Given the description of an element on the screen output the (x, y) to click on. 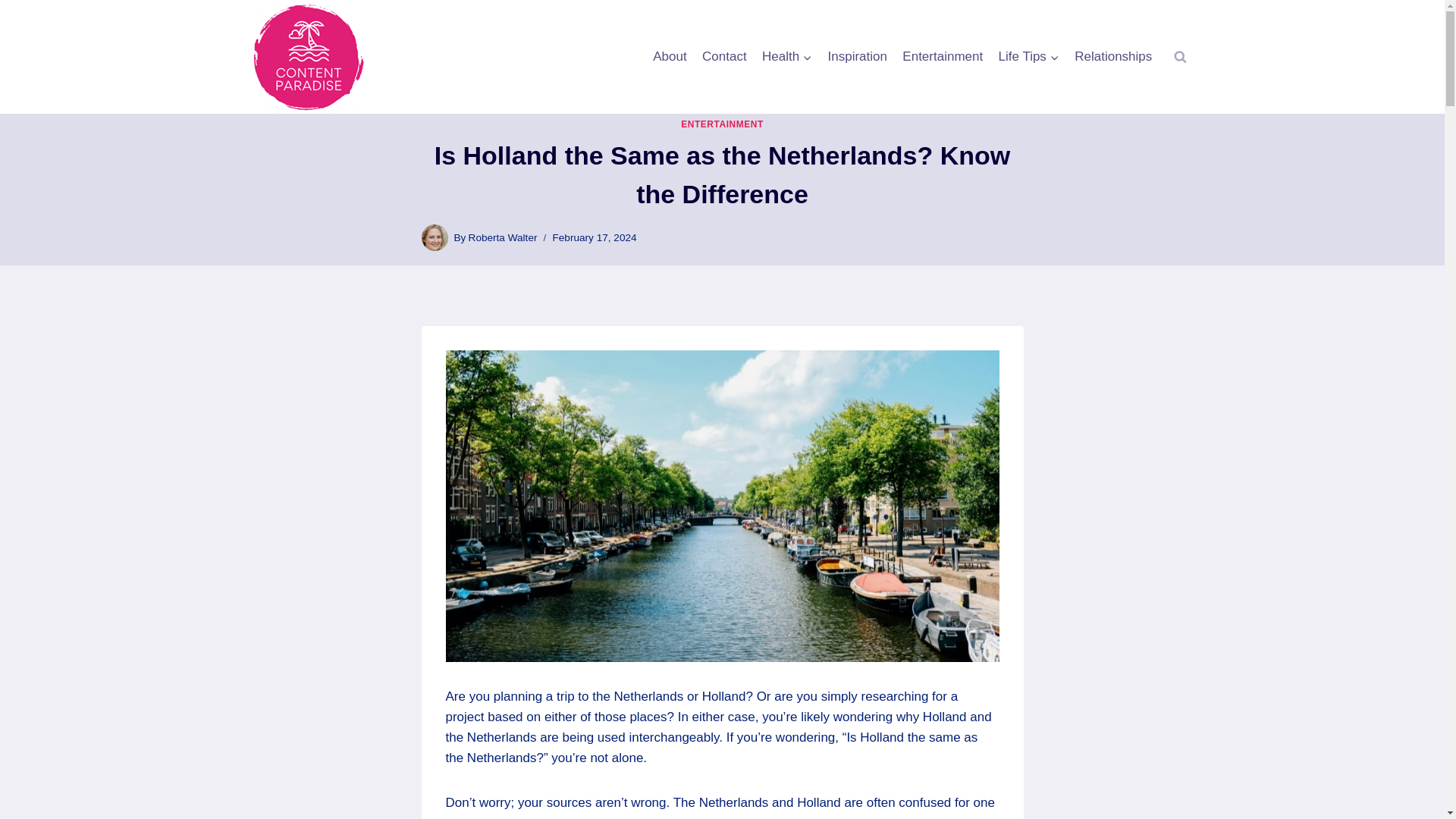
Health (787, 56)
About (669, 56)
Inspiration (787, 56)
Life Tips (857, 56)
Entertainment (1028, 56)
Relationships (1028, 56)
Contact (721, 123)
Contact (1112, 56)
Roberta Walter (724, 56)
ENTERTAINMENT (724, 56)
Roberta Walter (502, 237)
Entertainment (721, 123)
Inspiration (502, 237)
